Given the description of an element on the screen output the (x, y) to click on. 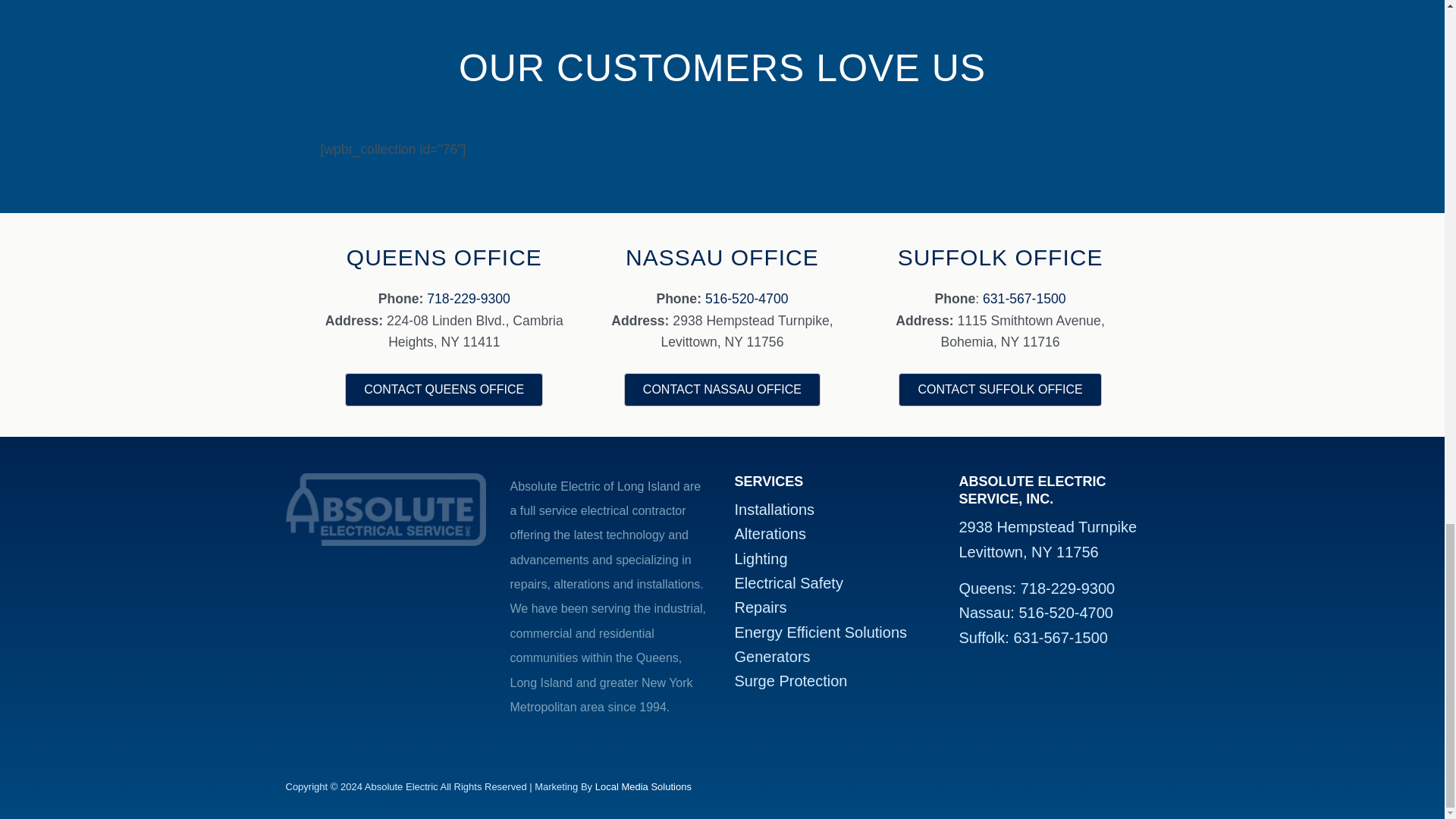
CONTACT NASSAU OFFICE (722, 389)
516-520-4700 (746, 298)
516-520-4700 (1065, 612)
718-229-9300 (468, 298)
631-567-1500 (1023, 298)
Local Media Solutions (643, 786)
631-567-1500 (1047, 538)
718-229-9300 (1060, 637)
CONTACT SUFFOLK OFFICE (1067, 588)
